Given the description of an element on the screen output the (x, y) to click on. 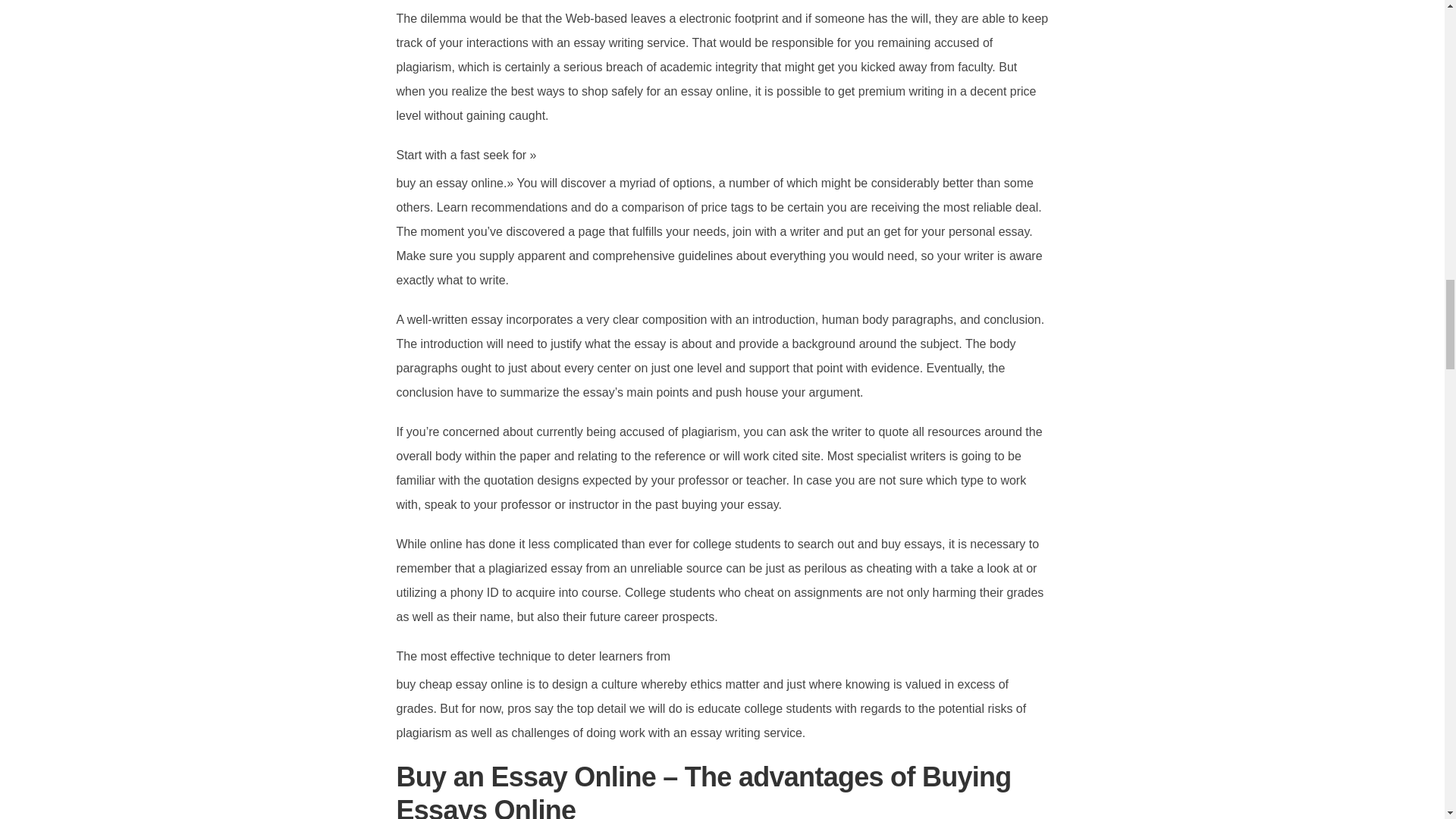
buy an essay online (449, 182)
buy cheap essay online (459, 684)
